Given the description of an element on the screen output the (x, y) to click on. 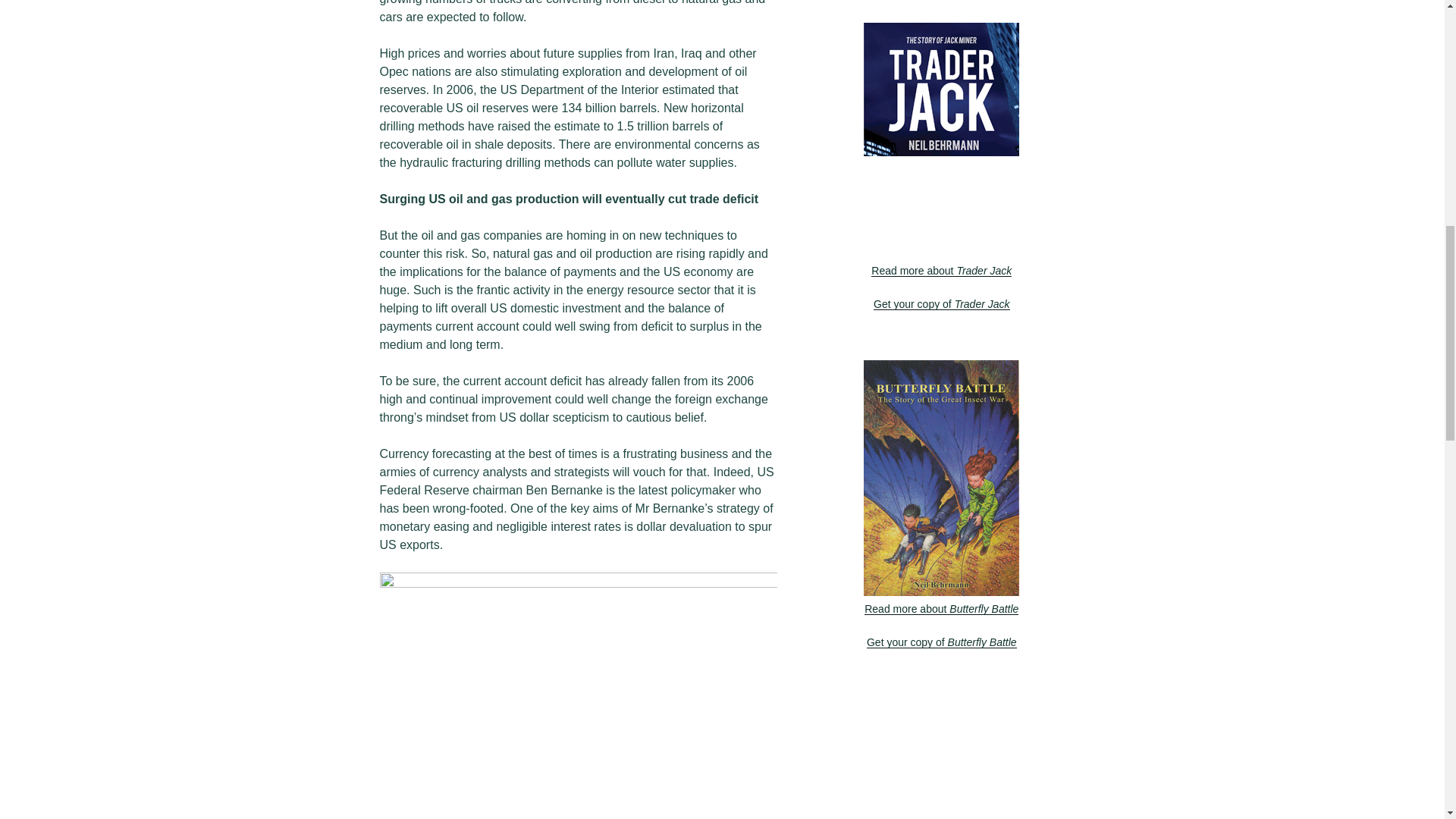
Get your copy of Trader Jack (941, 304)
USdollar index (577, 695)
Read more about Trader Jack (944, 278)
Read more about Butterfly Battle (941, 616)
Get your copy of Butterfly Battle (941, 642)
